Given the description of an element on the screen output the (x, y) to click on. 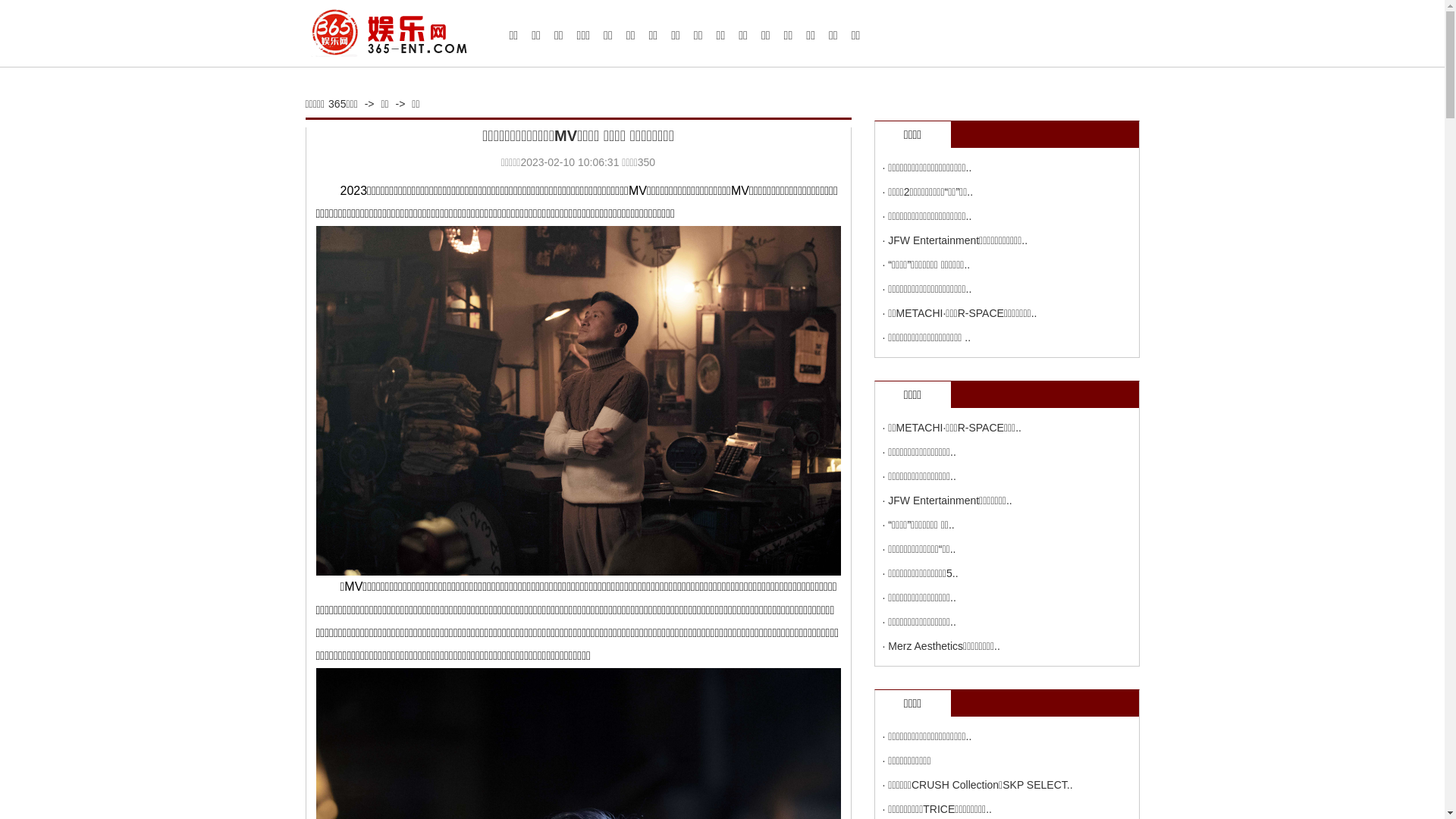
1675991381700901.jpeg Element type: hover (577, 400)
